Given the description of an element on the screen output the (x, y) to click on. 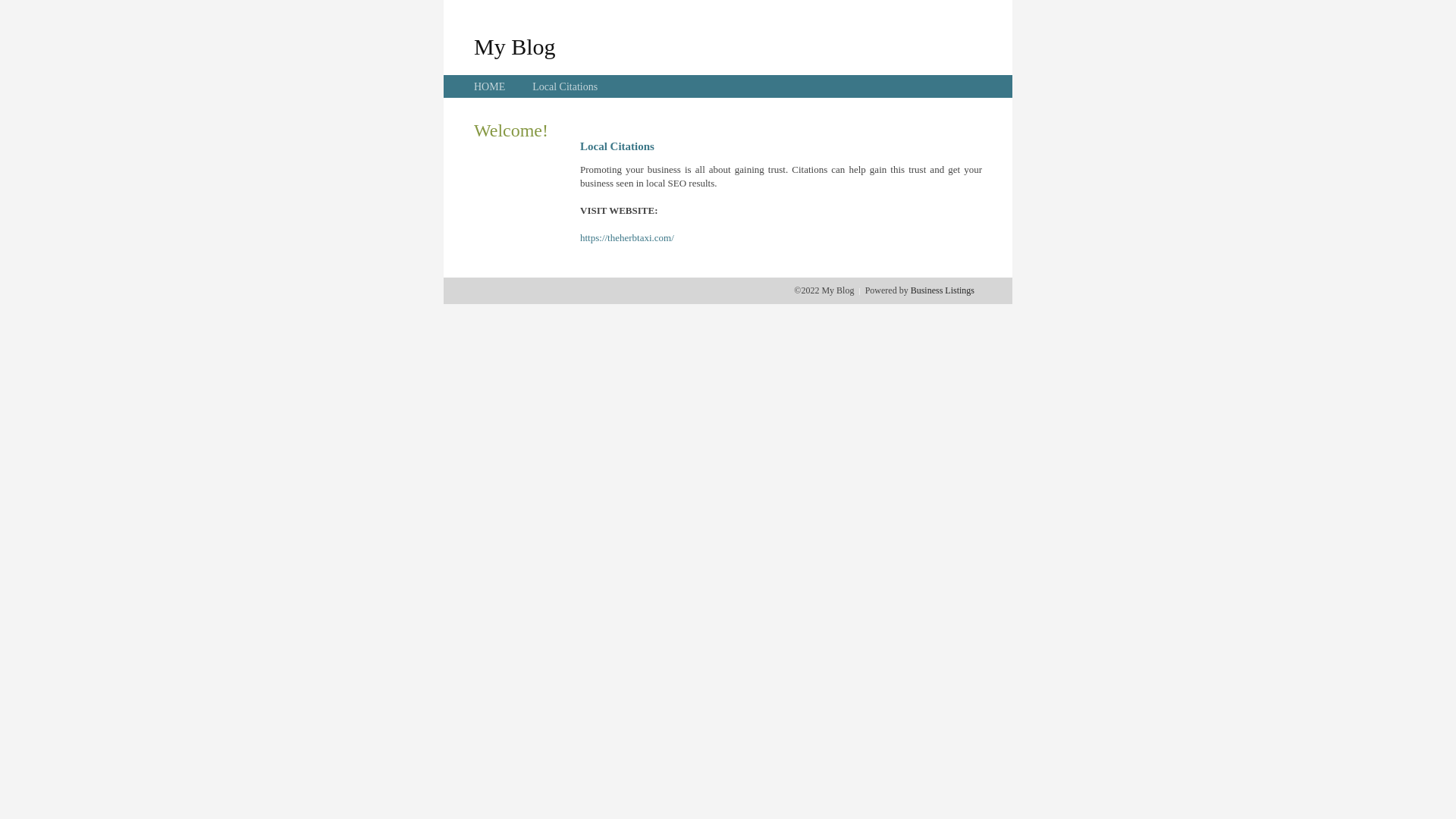
Local Citations Element type: text (564, 86)
HOME Element type: text (489, 86)
My Blog Element type: text (514, 46)
Business Listings Element type: text (942, 290)
https://theherbtaxi.com/ Element type: text (627, 237)
